Given the description of an element on the screen output the (x, y) to click on. 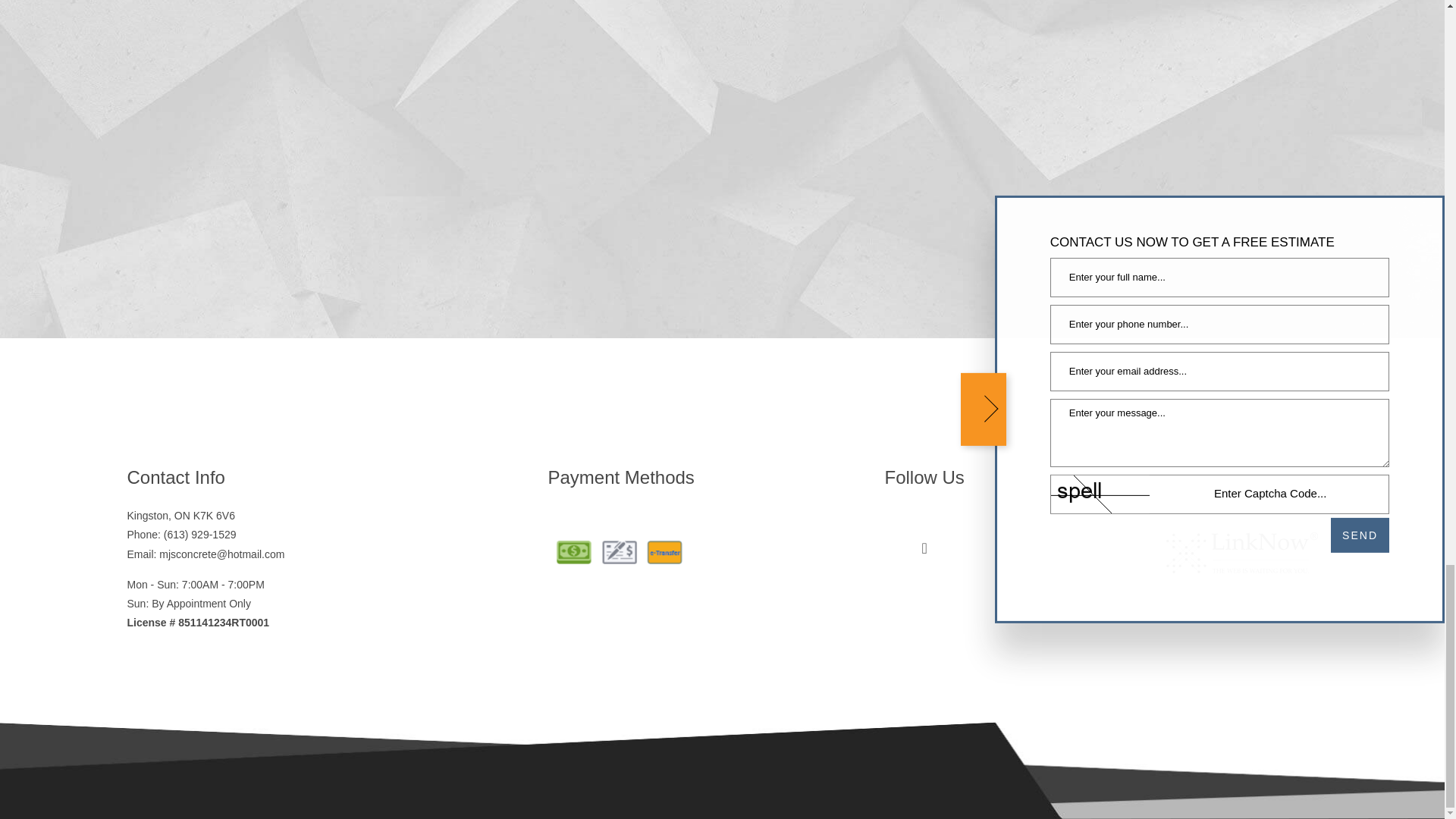
Check (619, 552)
Cash (573, 552)
E-Transfer (663, 552)
